Given the description of an element on the screen output the (x, y) to click on. 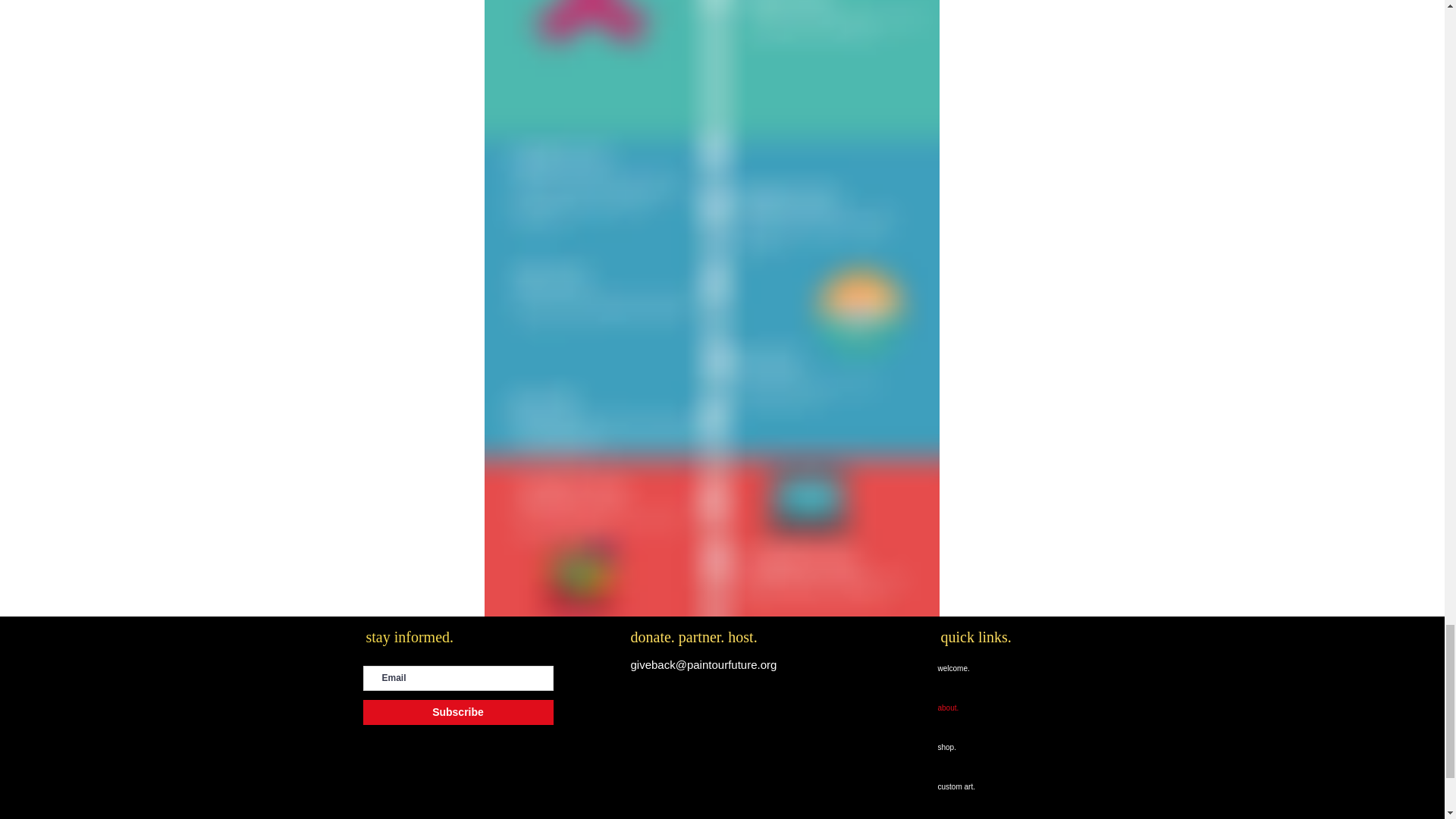
shop. (971, 747)
custom art. (971, 786)
about. (971, 708)
get involved. (971, 812)
Subscribe (457, 712)
welcome. (971, 668)
